Given the description of an element on the screen output the (x, y) to click on. 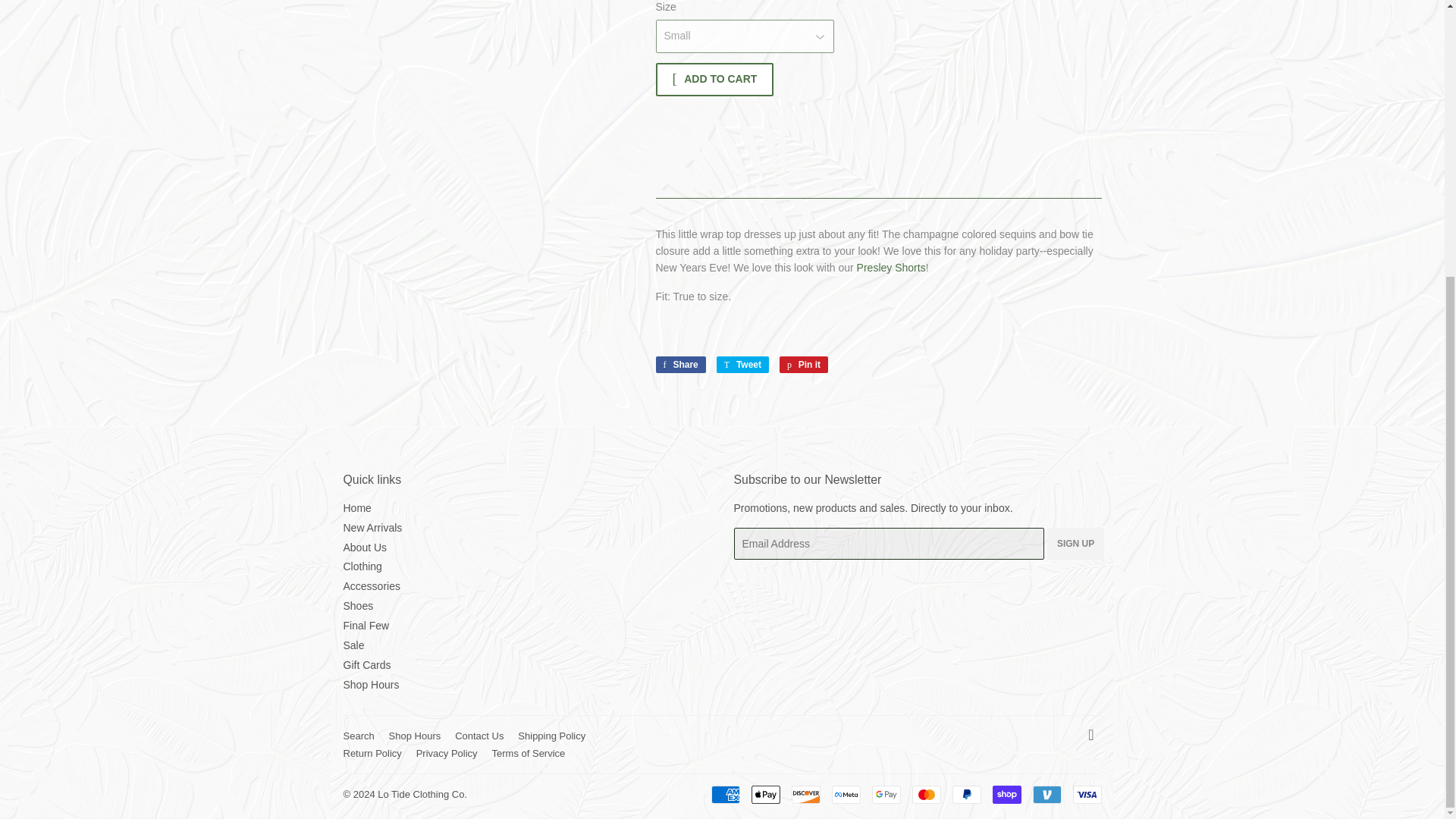
Google Pay (886, 794)
Meta Pay (845, 794)
Apple Pay (764, 794)
Share on Facebook (679, 364)
Pin on Pinterest (803, 364)
Venmo (1046, 794)
Discover (806, 794)
Mastercard (925, 794)
Shop Pay (1005, 794)
American Express (725, 794)
